Given the description of an element on the screen output the (x, y) to click on. 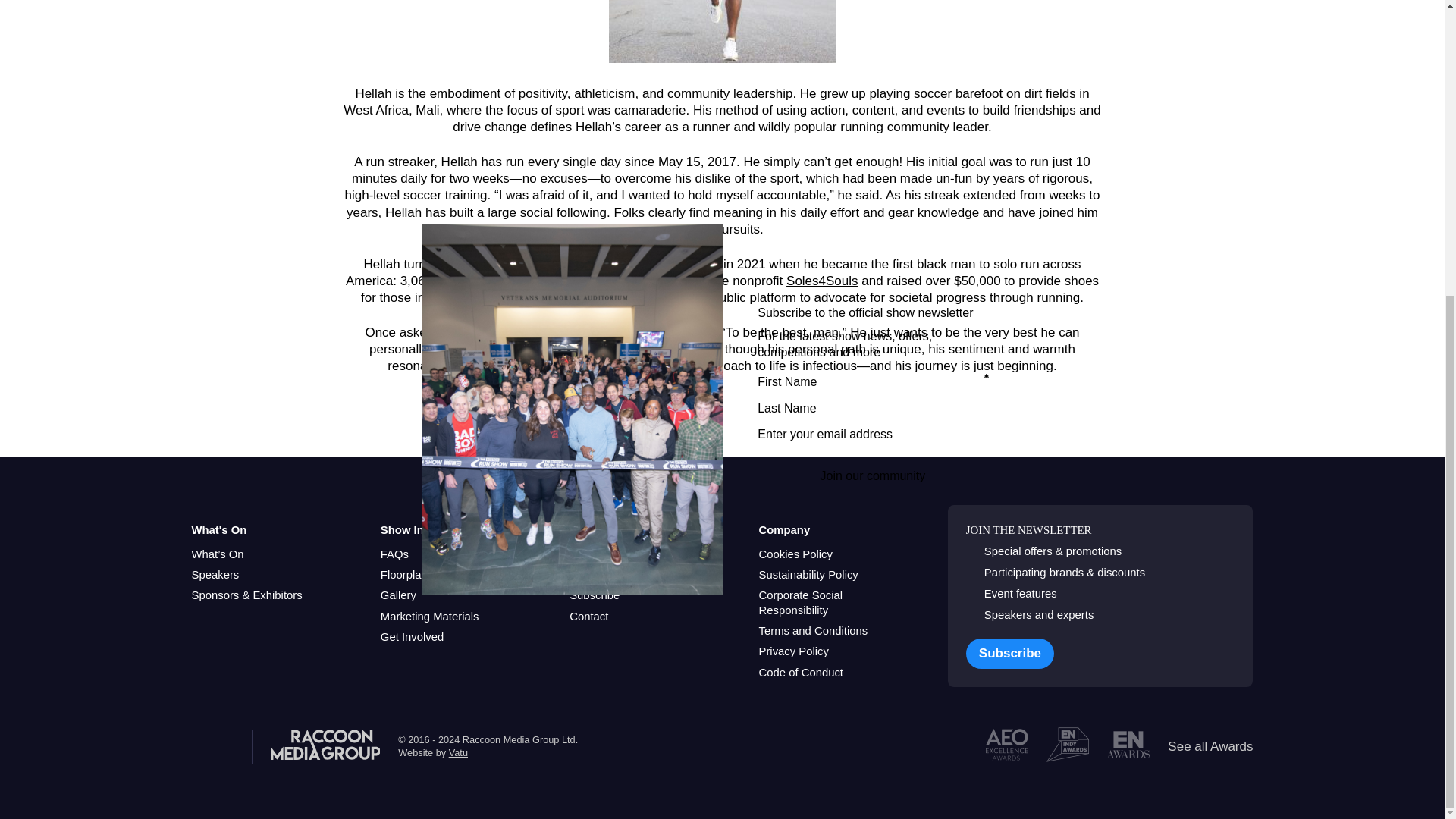
Corporate Social Responsibility (834, 603)
Code of Conduct (800, 672)
Gallery (398, 595)
FAQs (394, 554)
About (583, 554)
Get Involved (412, 636)
Contact (588, 616)
Marketing Materials (429, 616)
Floorplan (404, 575)
Privacy Policy (793, 651)
Subscribe (1010, 653)
Sustainability Policy (807, 575)
Speakers (214, 575)
News (582, 575)
Subscribe (594, 595)
